Given the description of an element on the screen output the (x, y) to click on. 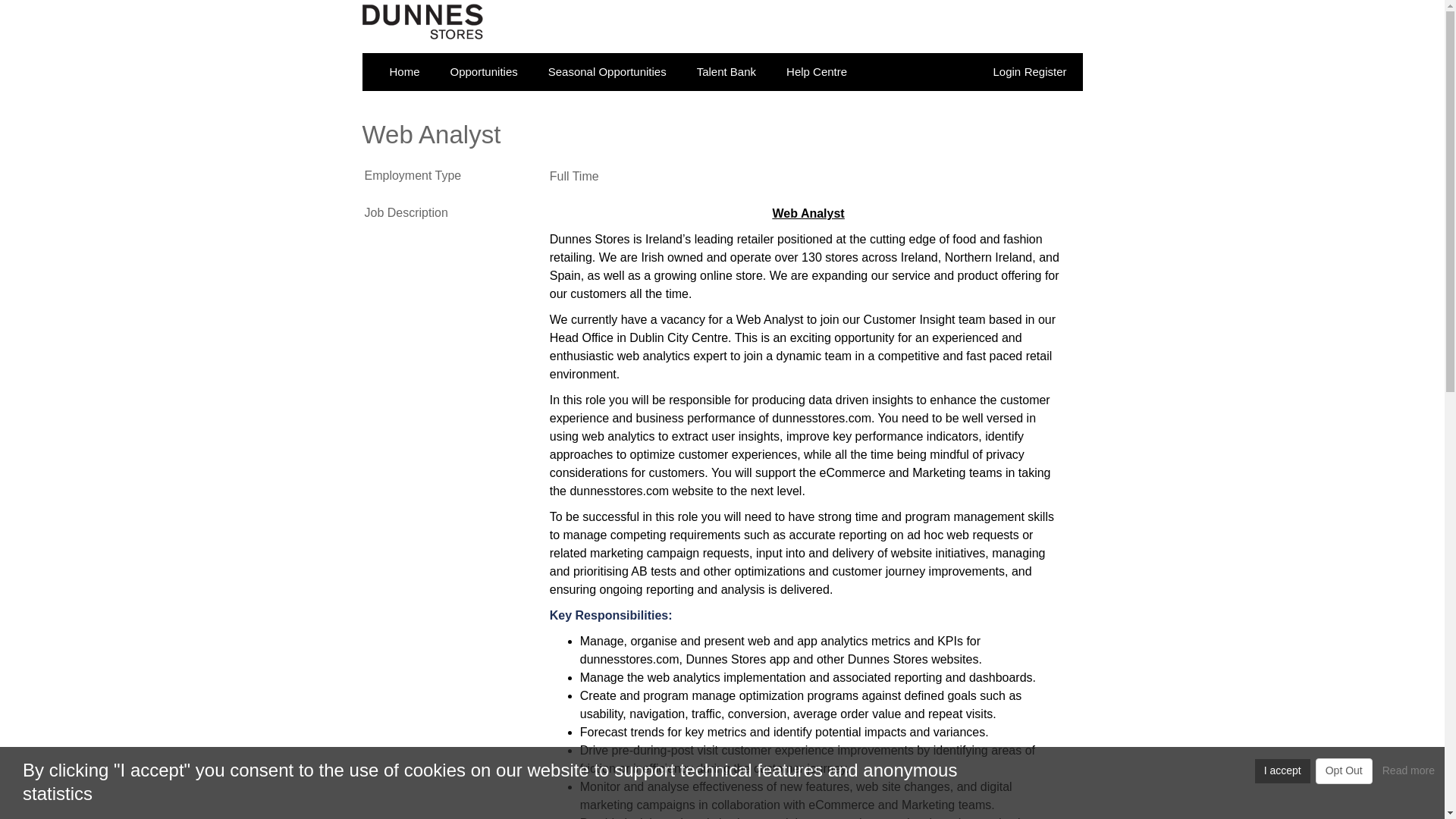
Login (1006, 71)
Register (1046, 71)
Home (404, 72)
Talent Bank (726, 72)
Opt Out (1344, 770)
Help Centre (816, 72)
I accept (1282, 770)
Opportunities (483, 72)
Seasonal Opportunities (606, 72)
